Given the description of an element on the screen output the (x, y) to click on. 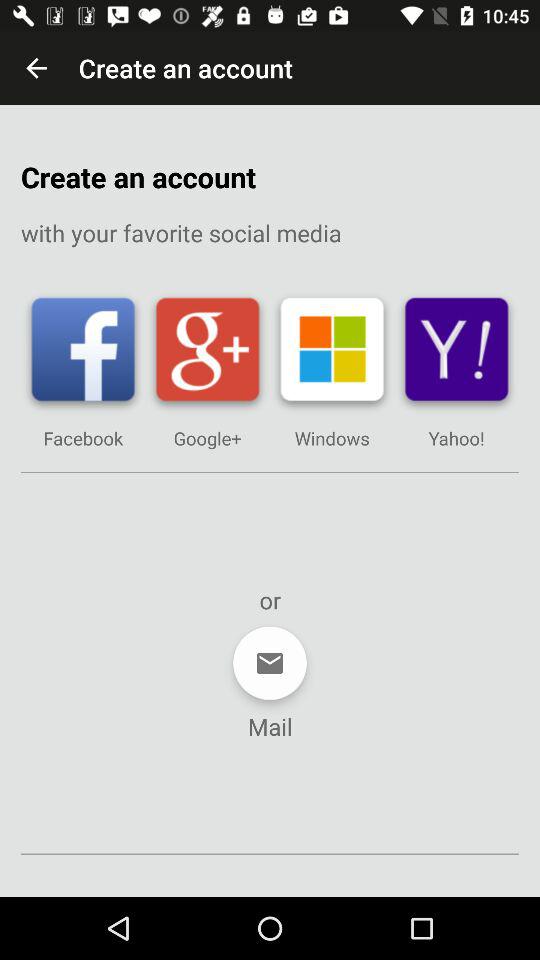
select the icon at the top left corner (36, 68)
